Given the description of an element on the screen output the (x, y) to click on. 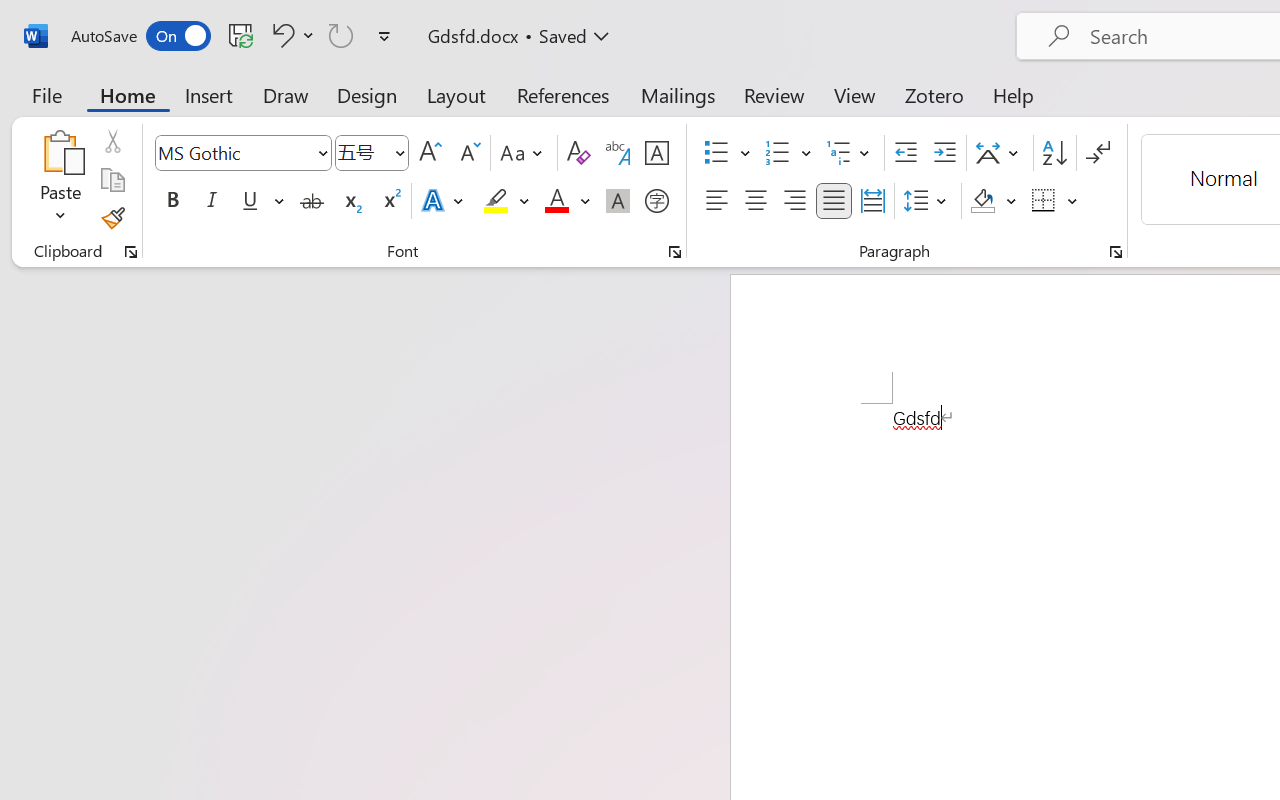
Shading RGB(0, 0, 0) (982, 201)
Font Color Red (556, 201)
Shading (993, 201)
